Given the description of an element on the screen output the (x, y) to click on. 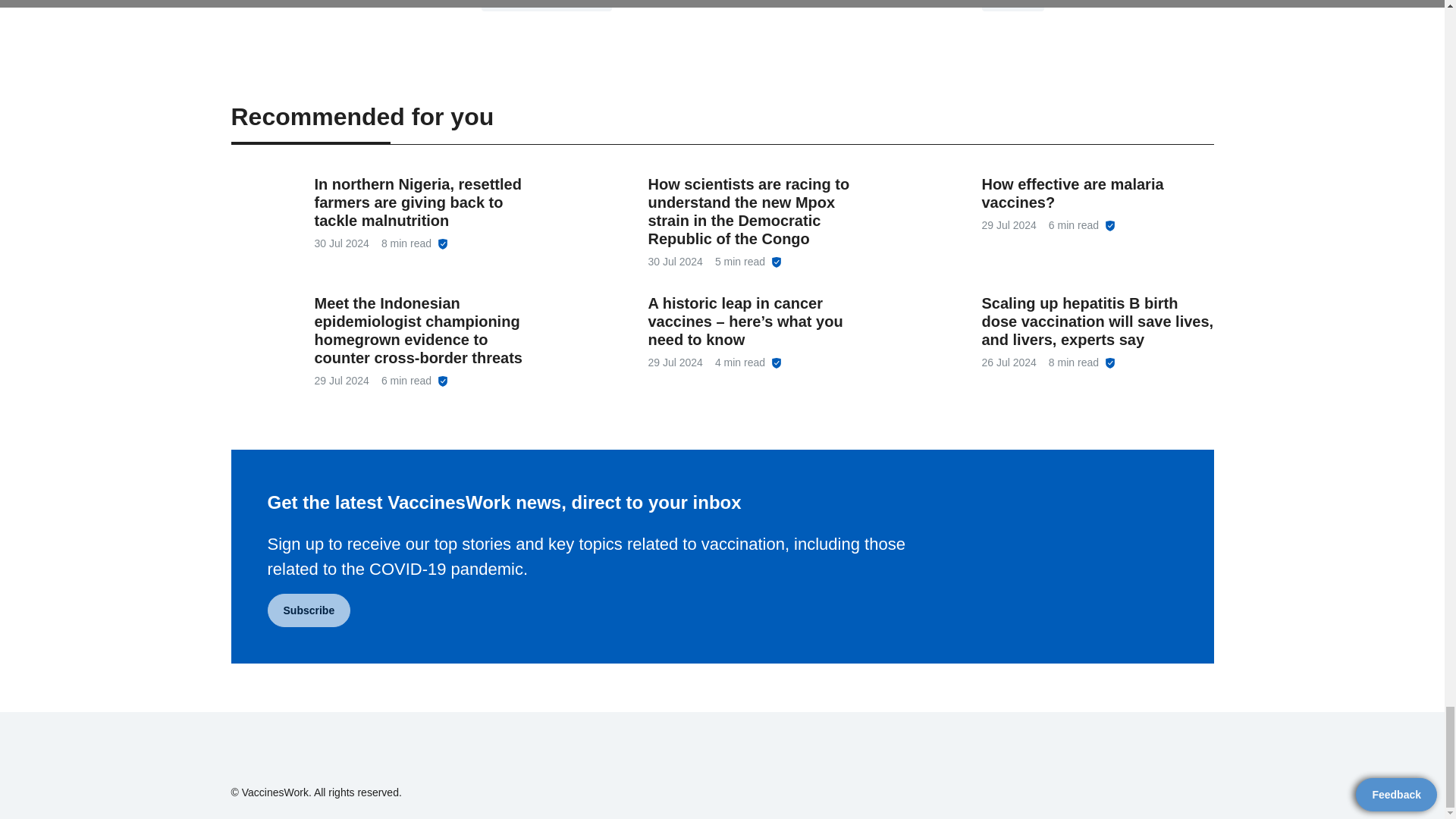
verified (1110, 362)
verified (443, 380)
verified (443, 244)
verified (776, 262)
verified (776, 362)
verified (1110, 225)
